Given the description of an element on the screen output the (x, y) to click on. 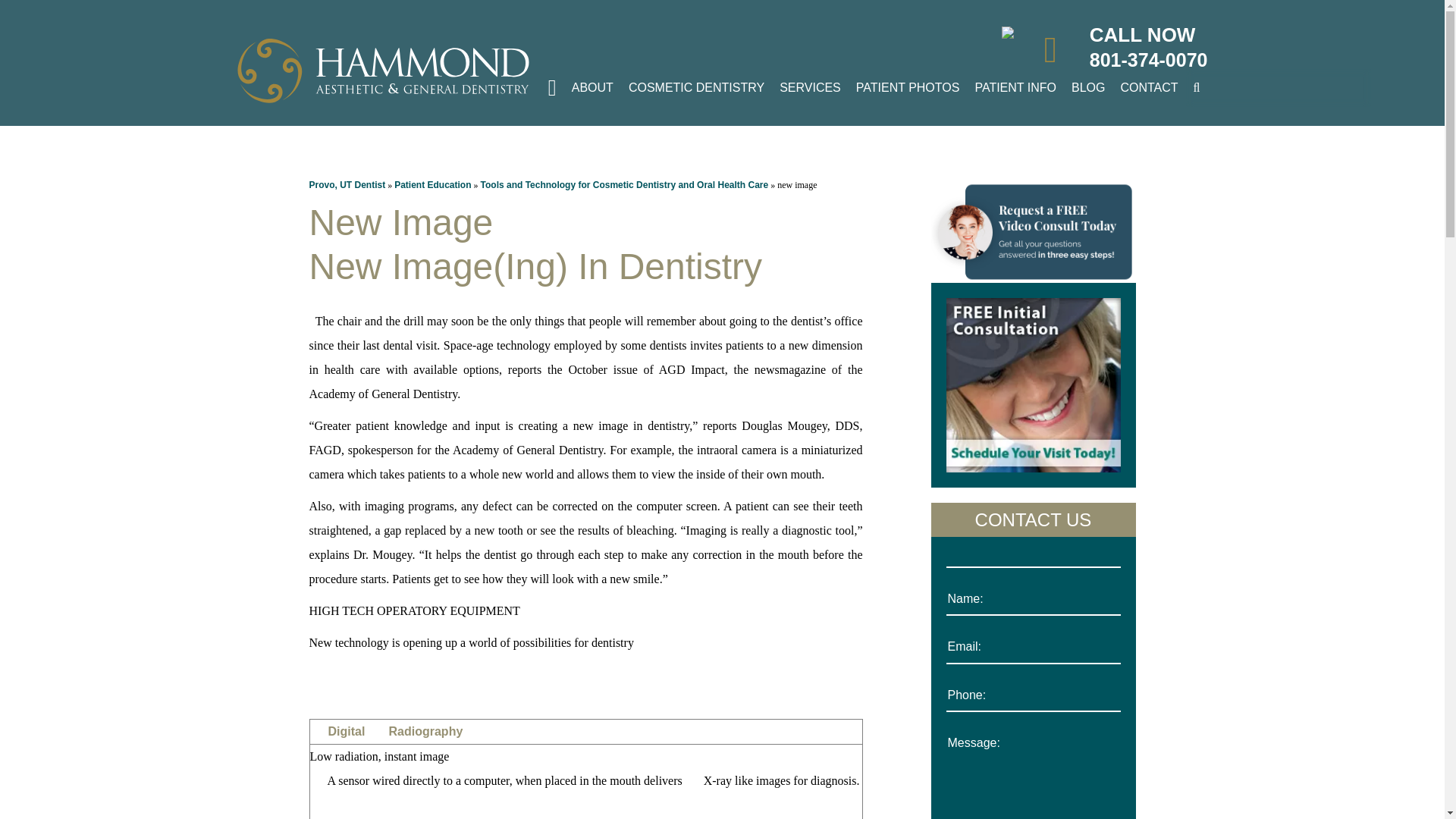
COSMETIC DENTISTRY (696, 87)
SERVICES (809, 87)
801-374-0070 (1148, 60)
ABOUT (592, 87)
